Given the description of an element on the screen output the (x, y) to click on. 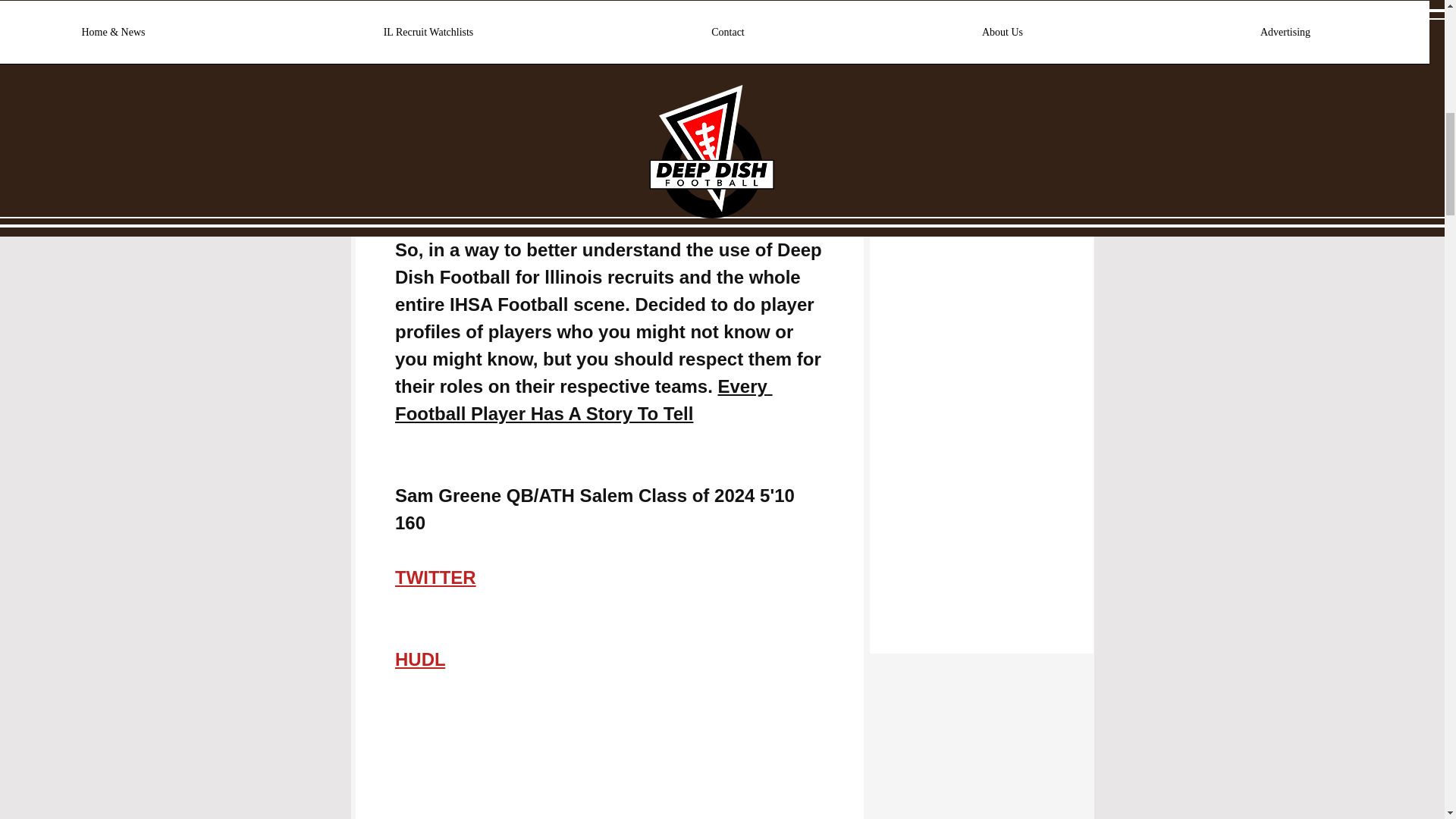
By: Peter "Coach Big Pete" Leinweber (559, 195)
HUDL (419, 659)
TWITTER (435, 577)
